Given the description of an element on the screen output the (x, y) to click on. 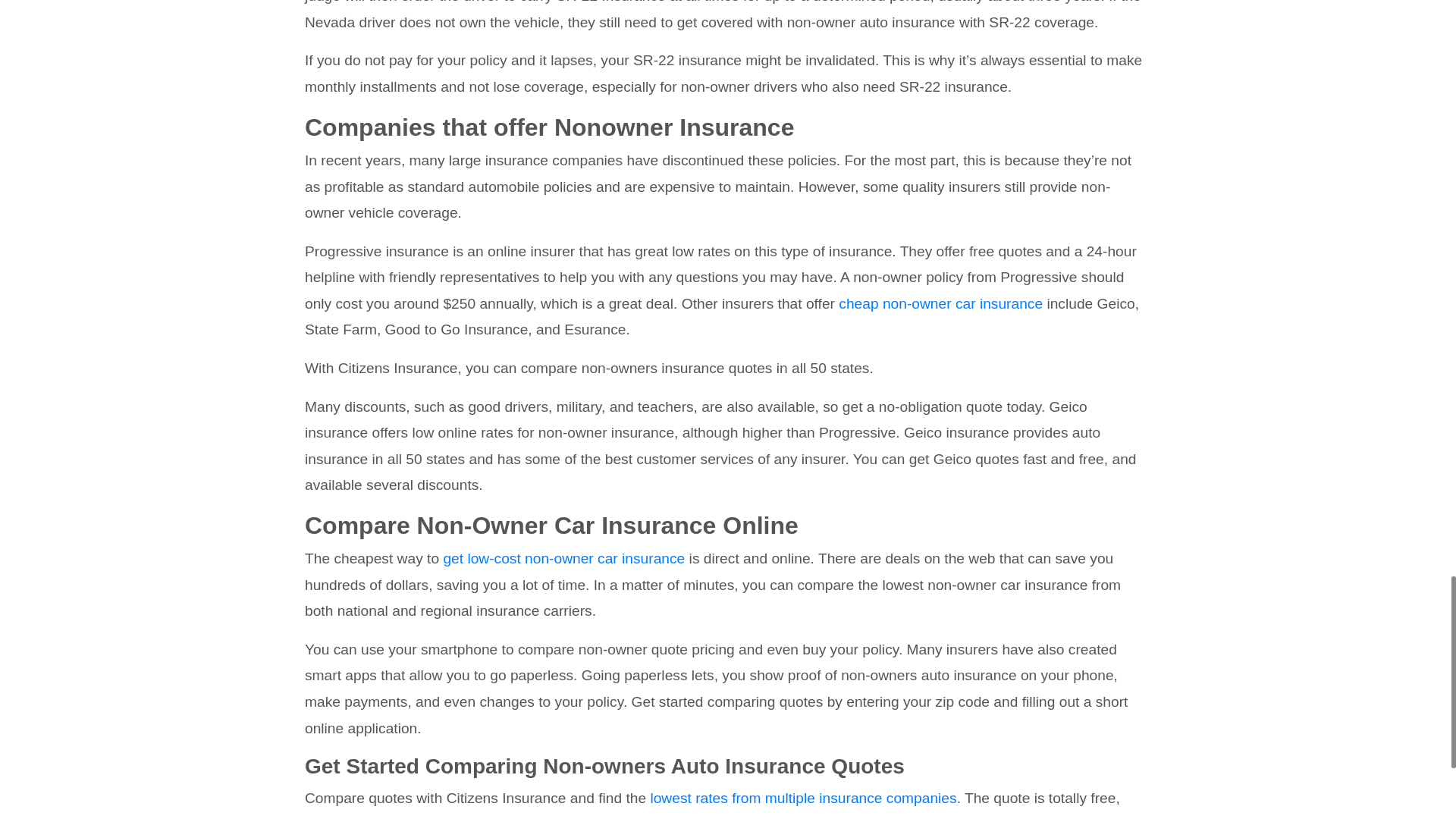
get low-cost non-owner car insurance (563, 558)
lowest rates from multiple insurance companies (802, 797)
cheap non-owner car insurance (938, 303)
